Given the description of an element on the screen output the (x, y) to click on. 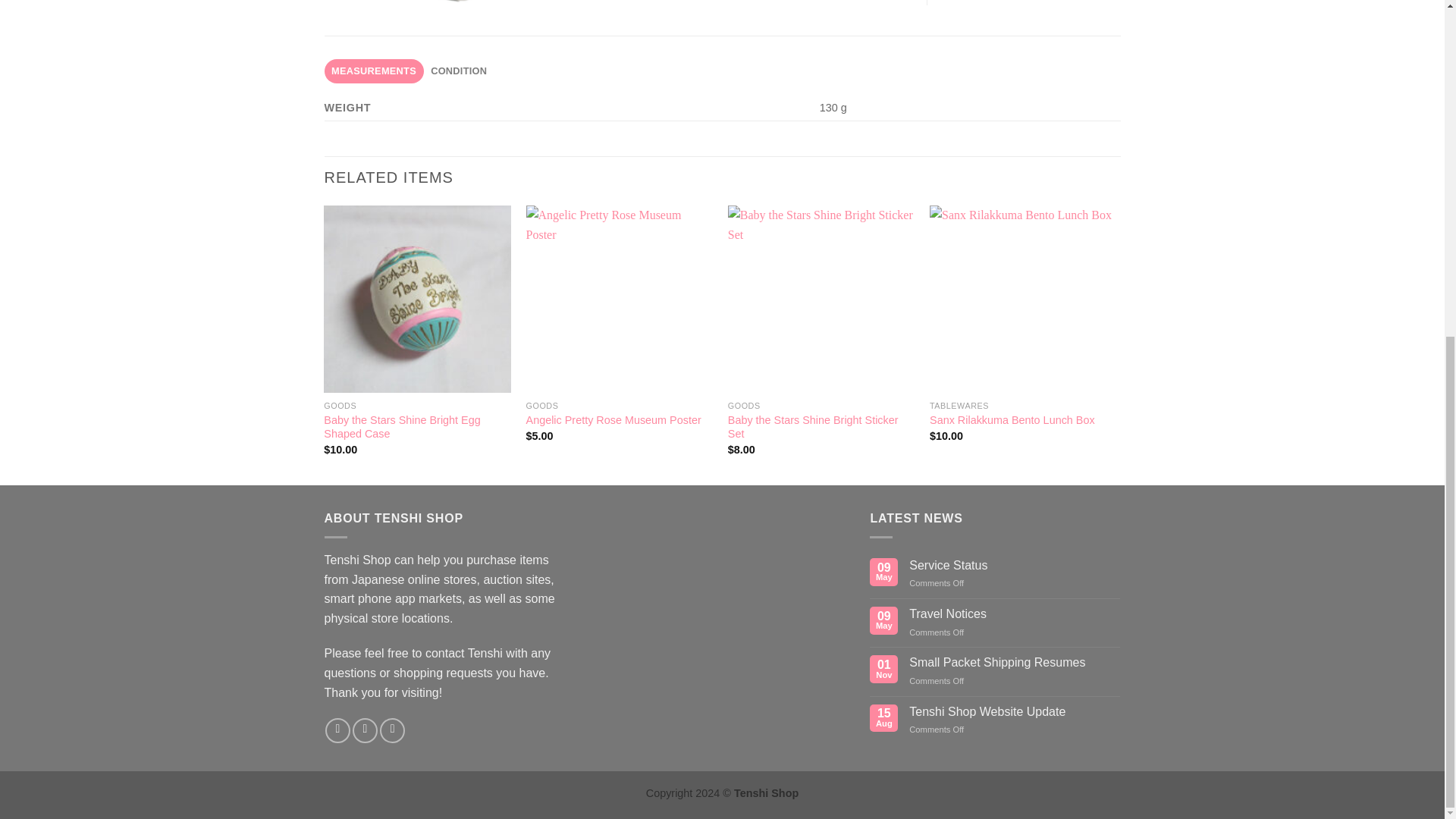
Travel Notices (1013, 613)
Follow on Facebook (337, 730)
Service Status (1013, 564)
Small Packet Shipping Resumes (1013, 662)
Baby the Stars Shine Bright Egg Shaped Case (417, 427)
MEASUREMENTS (373, 70)
Follow on Instagram (364, 730)
Tenshi Shop Website Update (1013, 711)
CONDITION (459, 70)
Angelic Pretty Rose Museum Poster (613, 420)
Send us an email (392, 730)
